Given the description of an element on the screen output the (x, y) to click on. 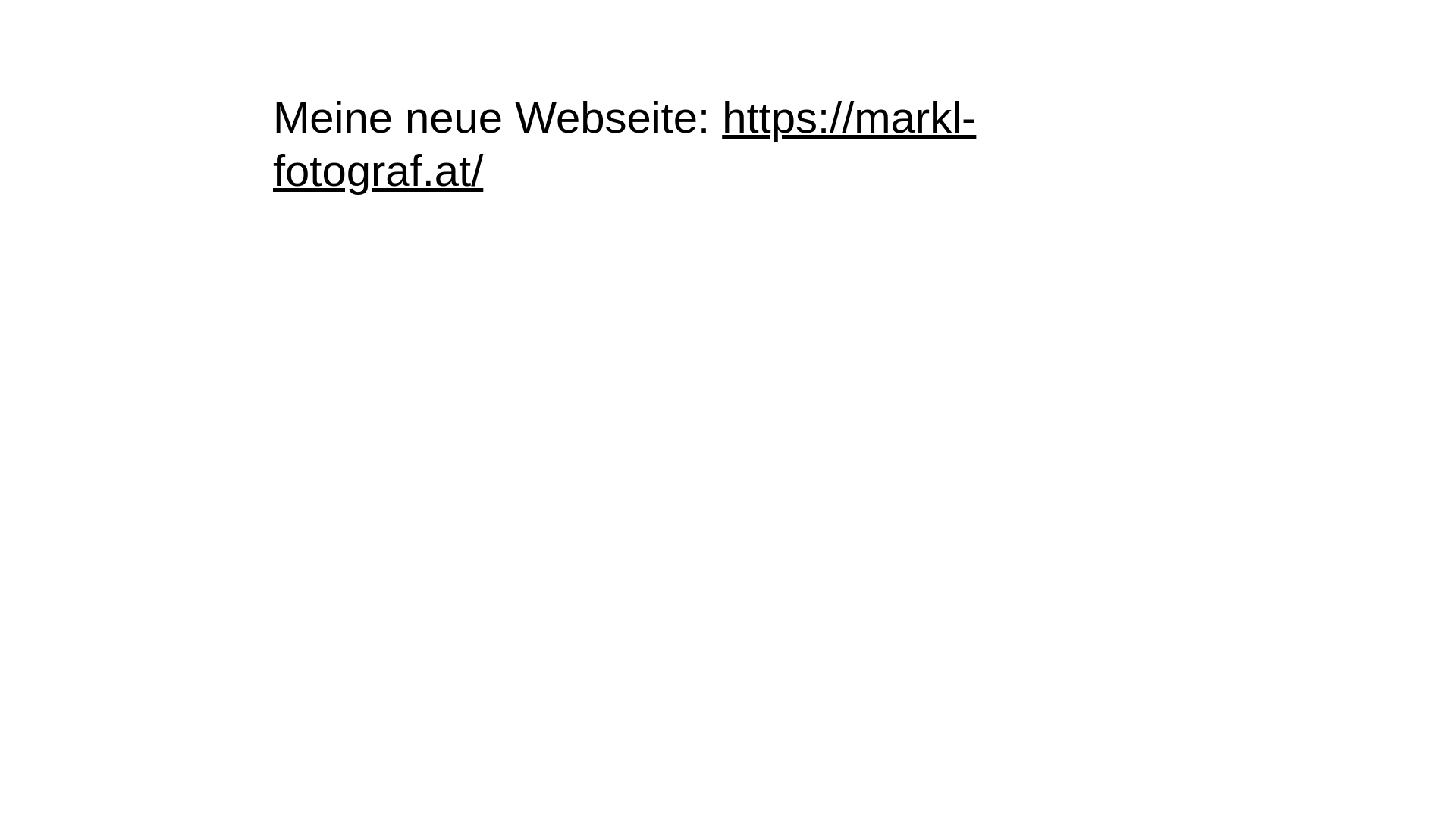
https://markl-fotograf.at/ Element type: text (624, 143)
